Given the description of an element on the screen output the (x, y) to click on. 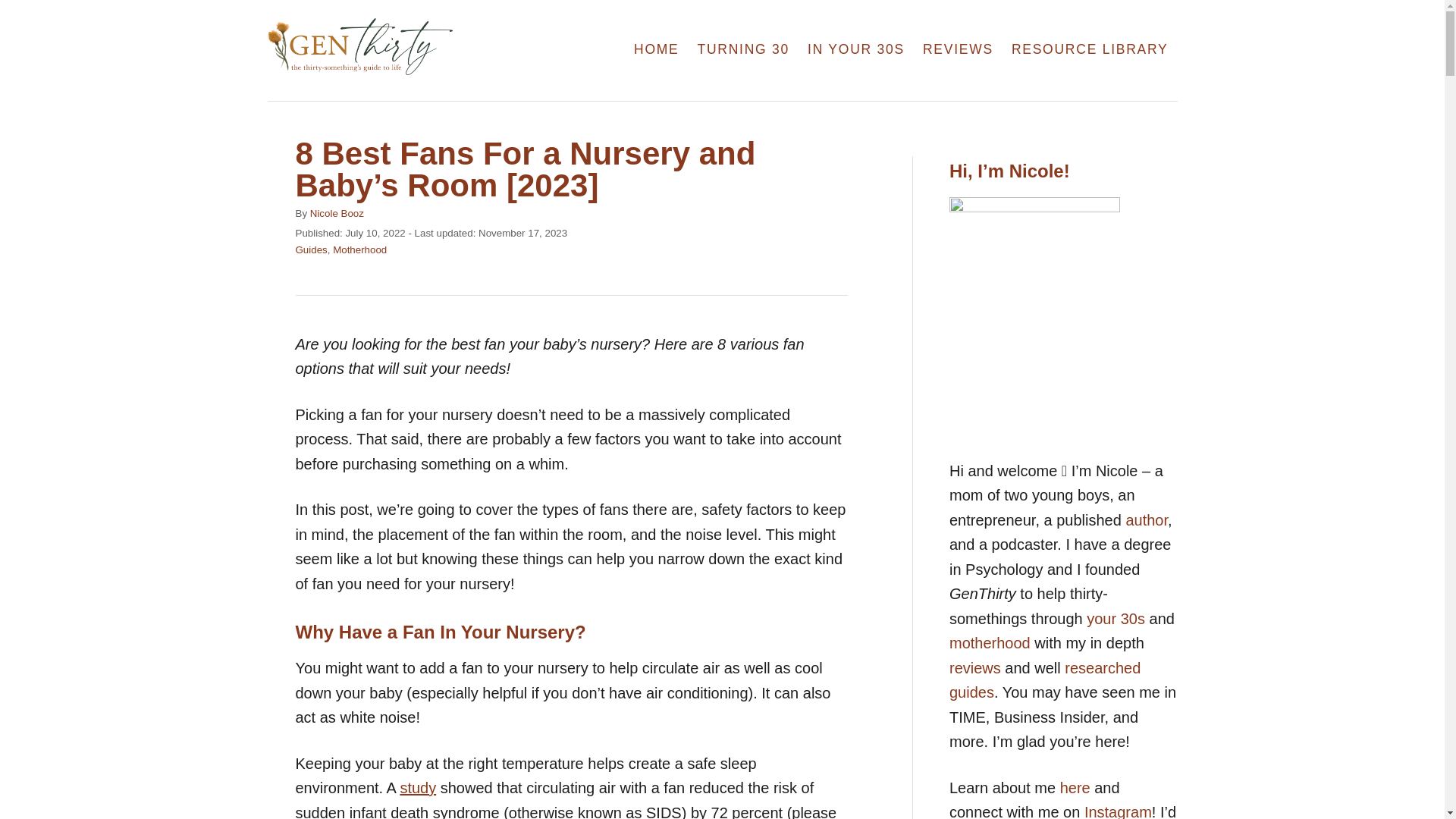
HOME (656, 49)
RESOURCE LIBRARY (1090, 49)
REVIEWS (958, 49)
IN YOUR 30S (855, 49)
Nicole Booz (337, 213)
GenThirty (401, 50)
Motherhood (360, 249)
study (416, 787)
TURNING 30 (743, 49)
Guides (311, 249)
